Given the description of an element on the screen output the (x, y) to click on. 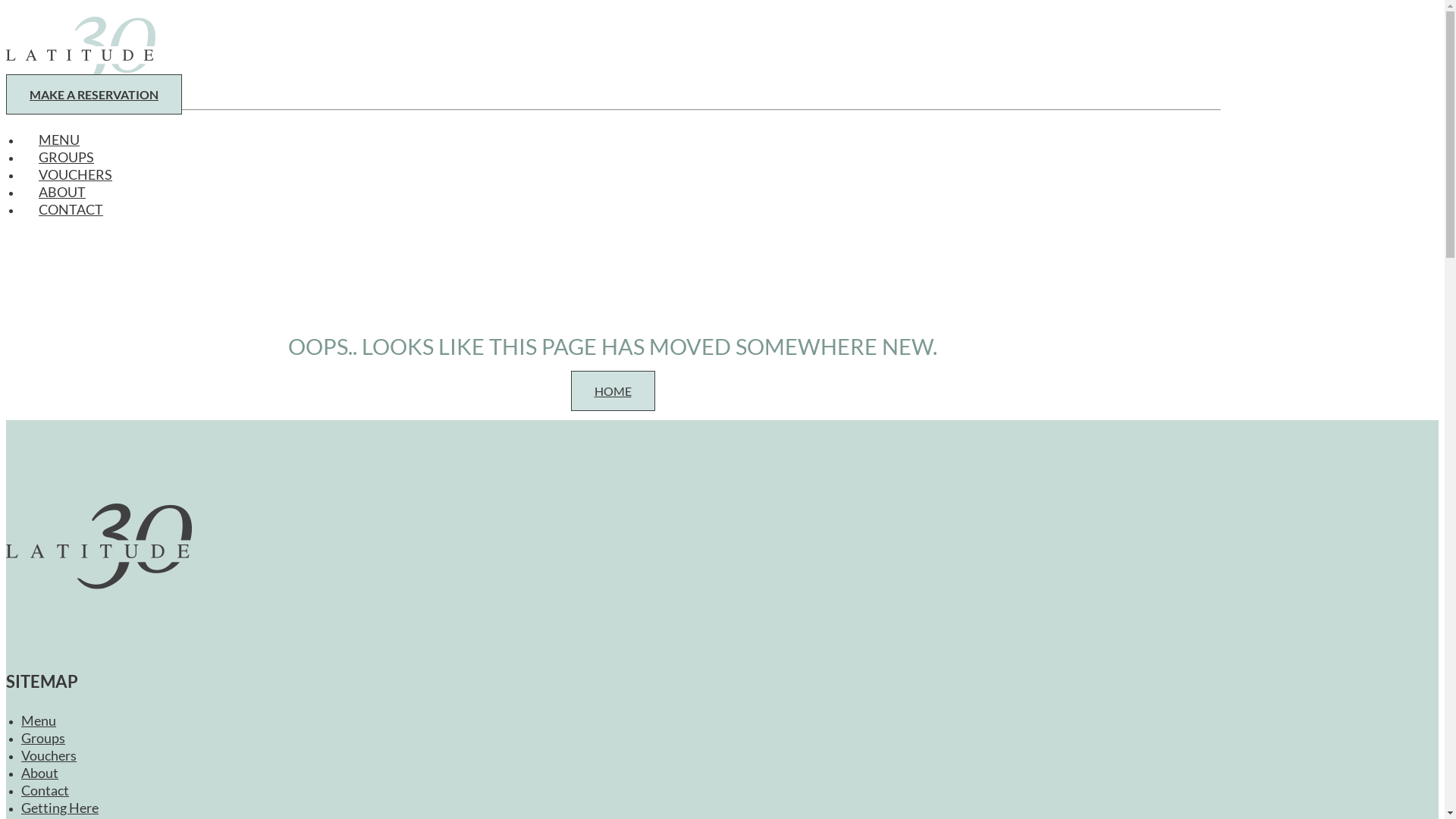
MAKE A RESERVATION Element type: text (94, 94)
MENU Element type: text (59, 143)
HOME Element type: text (612, 390)
Groups Element type: text (43, 741)
About Element type: text (39, 776)
CONTACT Element type: text (62, 212)
Vouchers Element type: text (48, 758)
ABOUT Element type: text (62, 195)
Contact Element type: text (45, 793)
GROUPS Element type: text (66, 160)
Latitude 30 Element type: hover (612, 50)
Menu Element type: text (38, 724)
Latitude 30 Element type: hover (612, 576)
VOUCHERS Element type: text (75, 178)
